Given the description of an element on the screen output the (x, y) to click on. 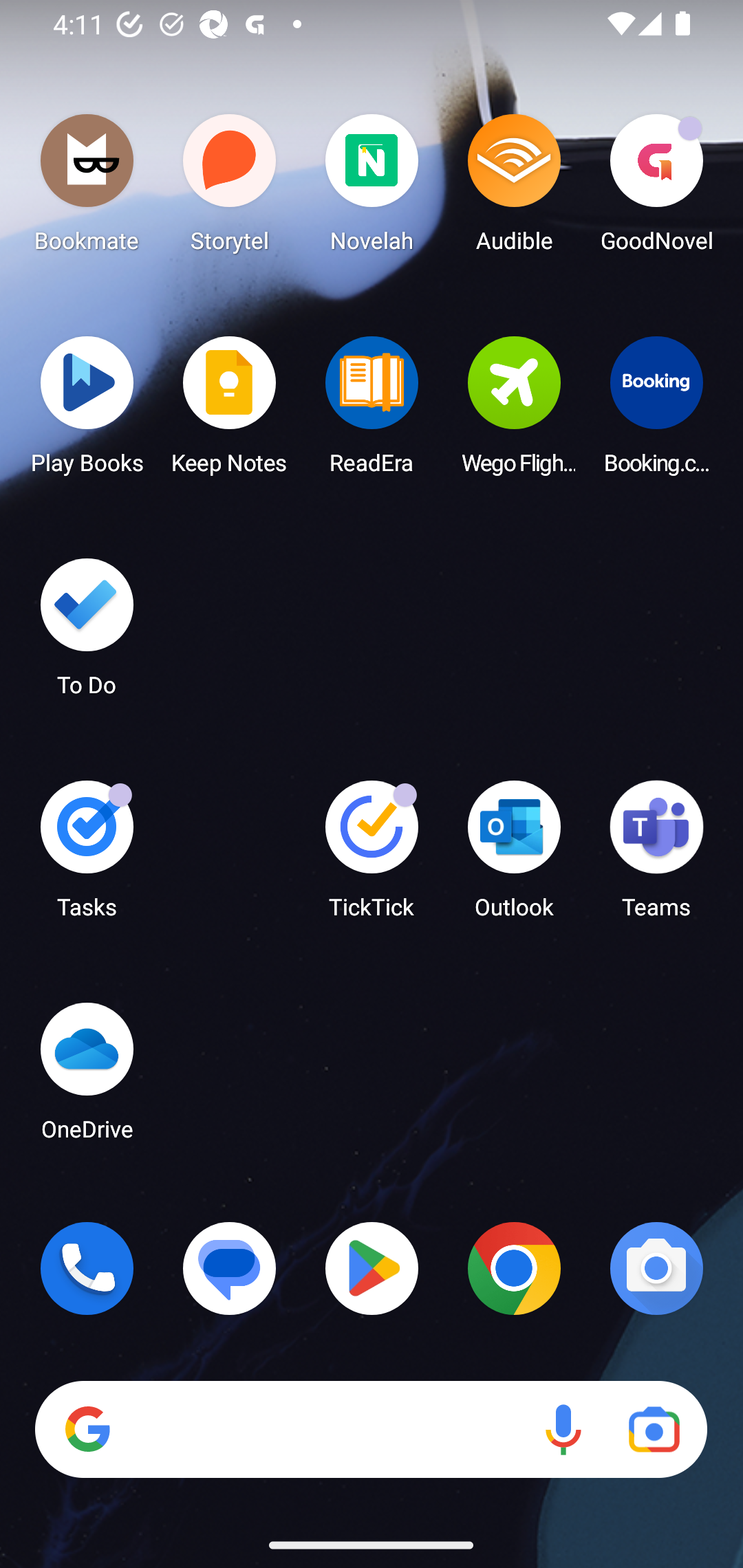
Bookmate (86, 188)
Storytel (229, 188)
Novelah (371, 188)
Audible (513, 188)
GoodNovel GoodNovel has 1 notification (656, 188)
Play Books (86, 410)
Keep Notes (229, 410)
ReadEra (371, 410)
Wego Flights & Hotels (513, 410)
Booking.com (656, 410)
To Do (86, 633)
Tasks Tasks has 1 notification (86, 854)
TickTick TickTick has 3 notifications (371, 854)
Outlook (513, 854)
Teams (656, 854)
OneDrive (86, 1076)
Phone (86, 1268)
Messages (229, 1268)
Play Store (371, 1268)
Chrome (513, 1268)
Camera (656, 1268)
Search Voice search Google Lens (370, 1429)
Voice search (562, 1429)
Google Lens (653, 1429)
